Given the description of an element on the screen output the (x, y) to click on. 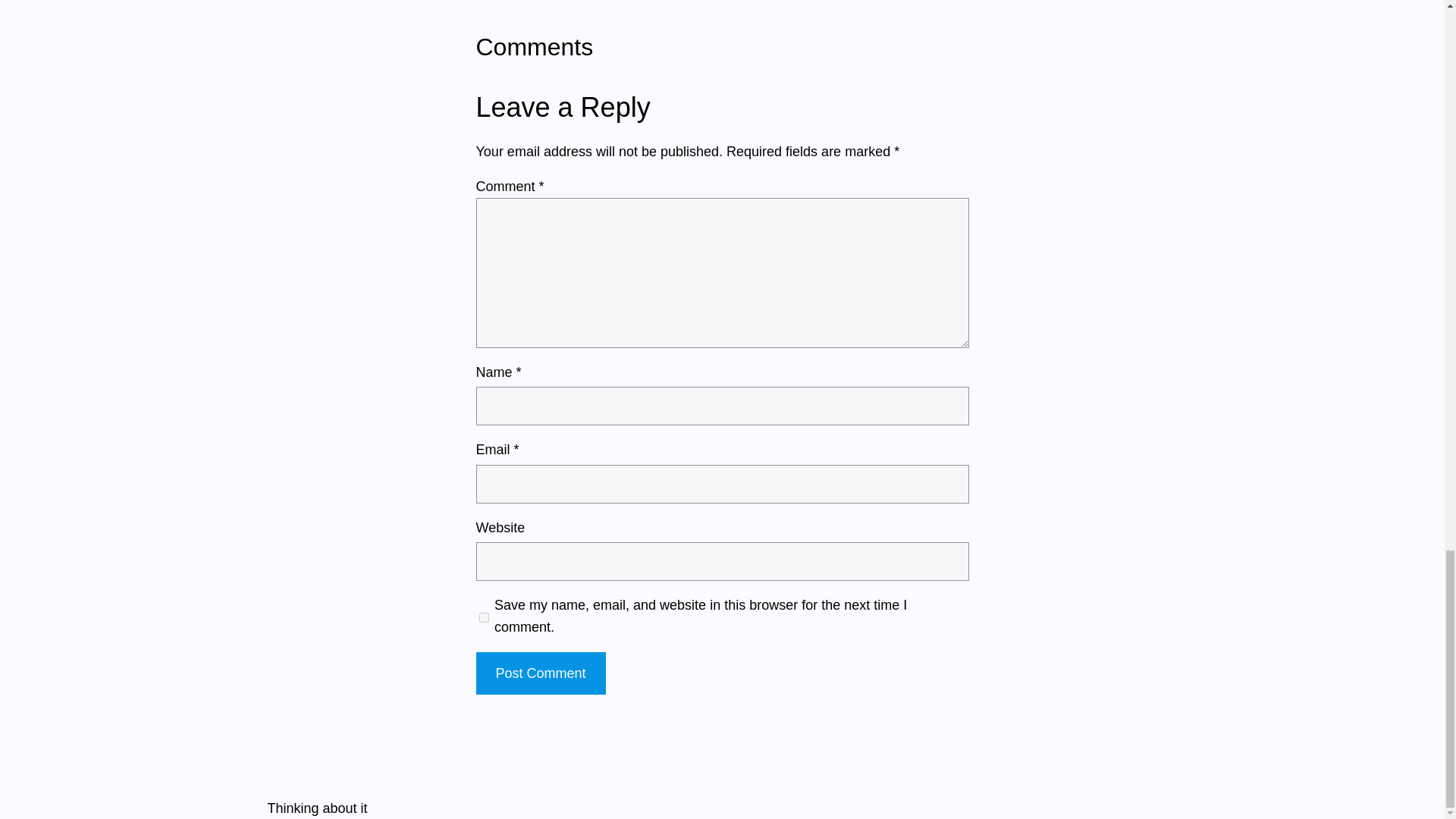
Thinking about it (316, 807)
Post Comment (540, 673)
yes (484, 616)
Post Comment (540, 673)
